Given the description of an element on the screen output the (x, y) to click on. 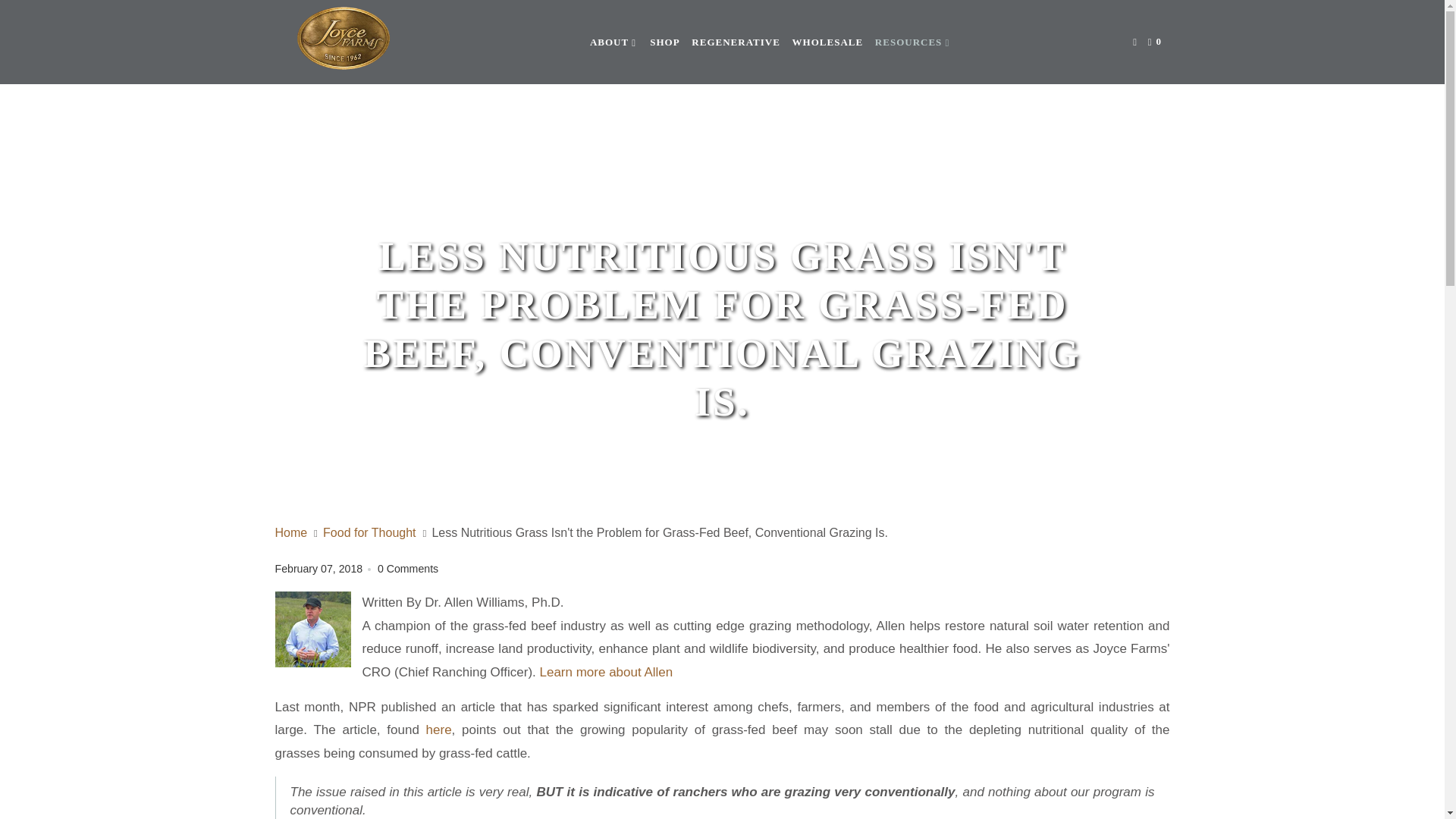
Dr. Allen Williams Ph.D.  (605, 672)
Food for Thought (371, 532)
Joyce Farms (342, 42)
Joyce Farms (292, 532)
SHOP (664, 41)
